Given the description of an element on the screen output the (x, y) to click on. 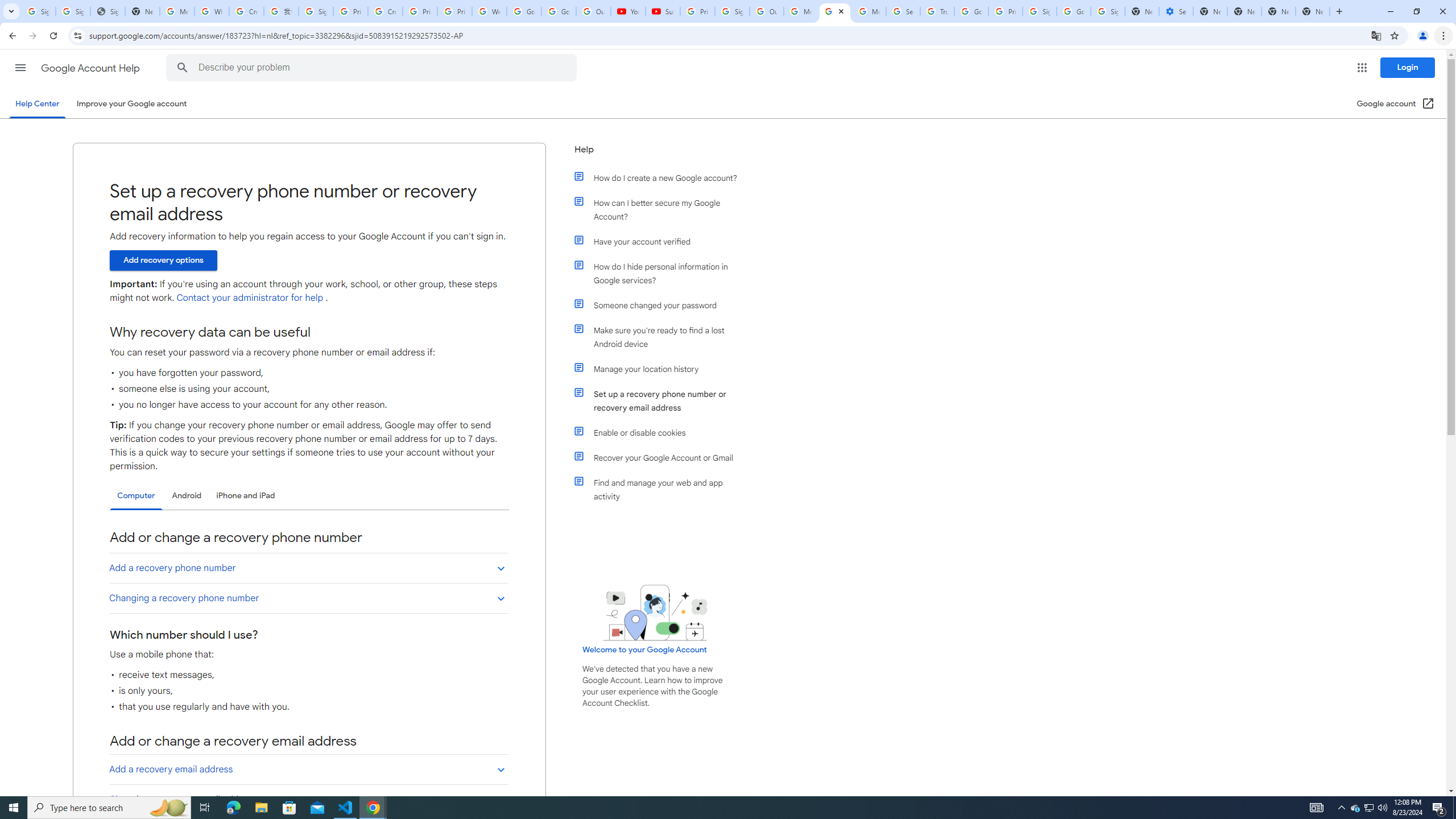
Changing a recovery phone number (308, 598)
Add recovery options (162, 260)
Changing a recovery email address (308, 799)
Add a recovery email address (308, 769)
